Given the description of an element on the screen output the (x, y) to click on. 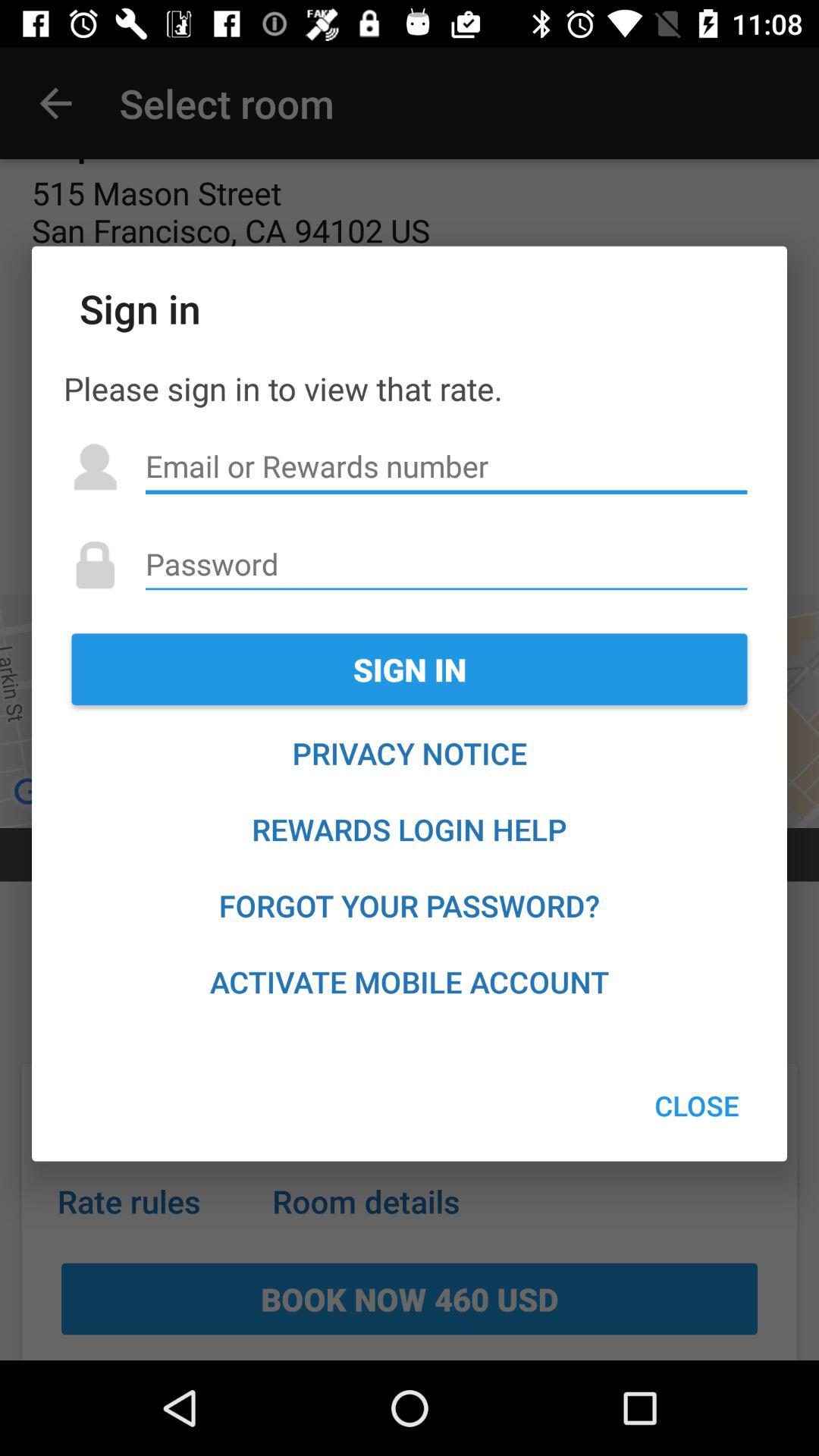
tap activate mobile account icon (409, 981)
